Given the description of an element on the screen output the (x, y) to click on. 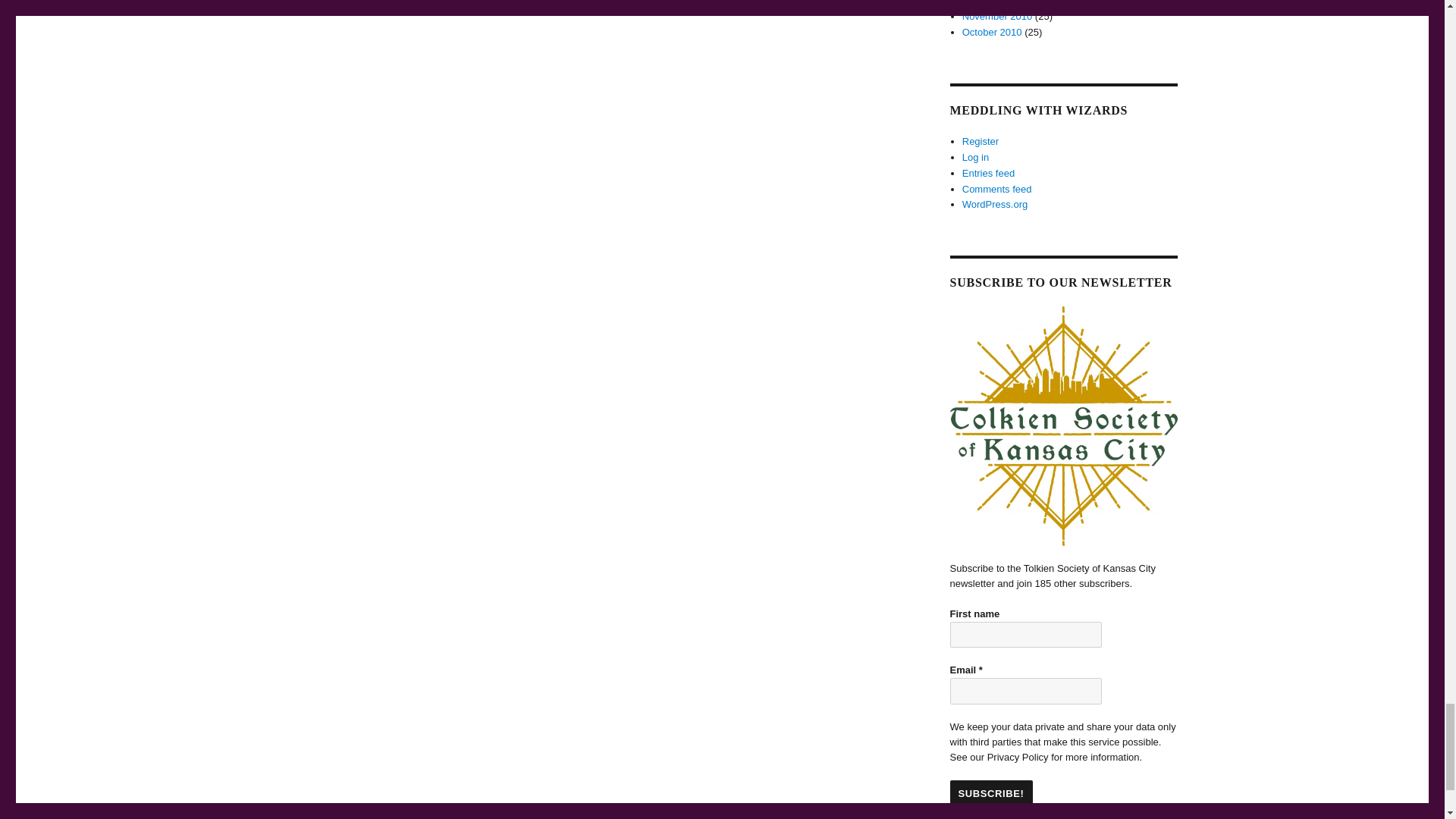
Subscribe! (990, 793)
First name (1024, 634)
Email (1024, 691)
